Given the description of an element on the screen output the (x, y) to click on. 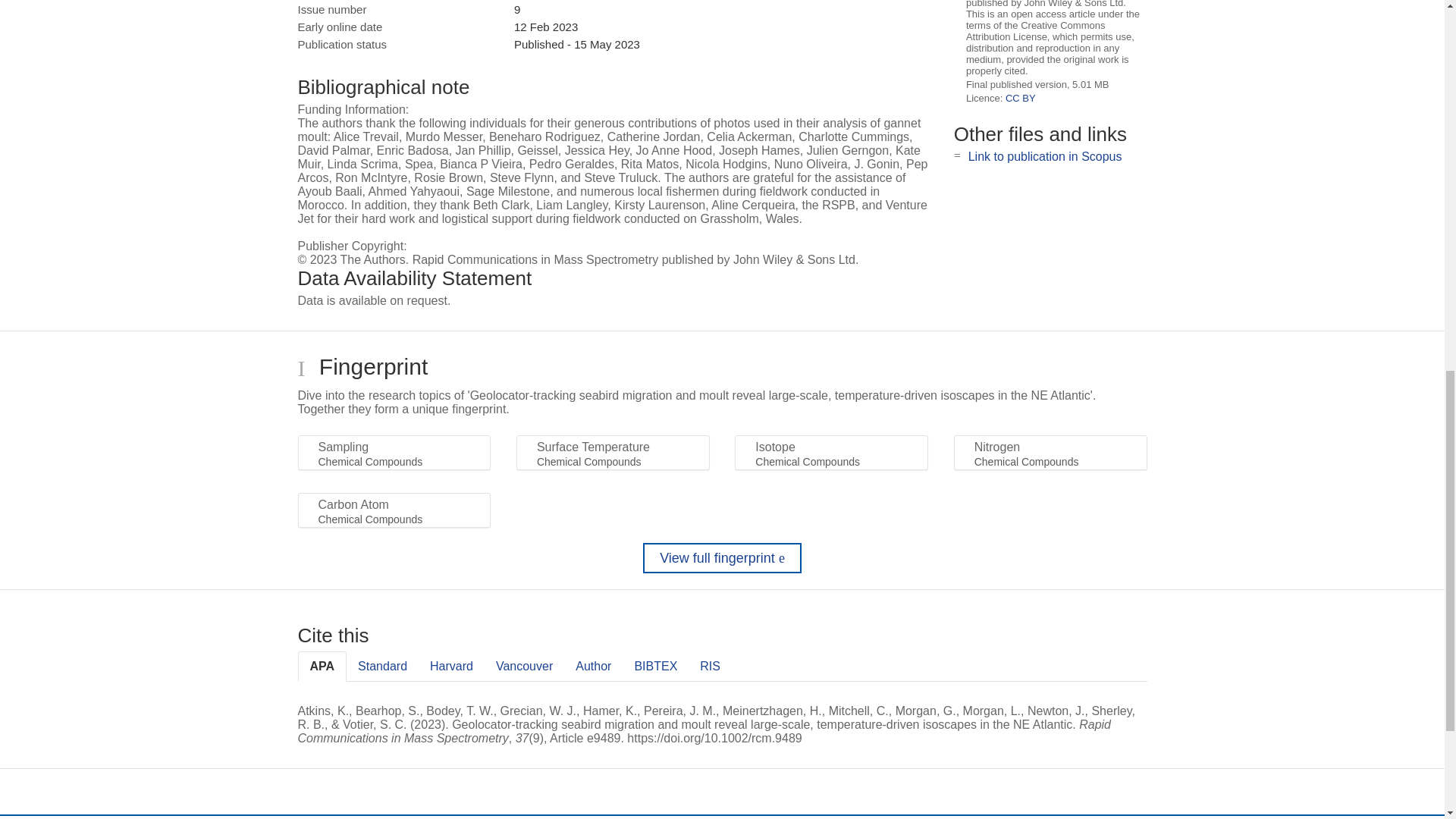
CC BY (1020, 98)
Link to publication in Scopus (1045, 155)
